Given the description of an element on the screen output the (x, y) to click on. 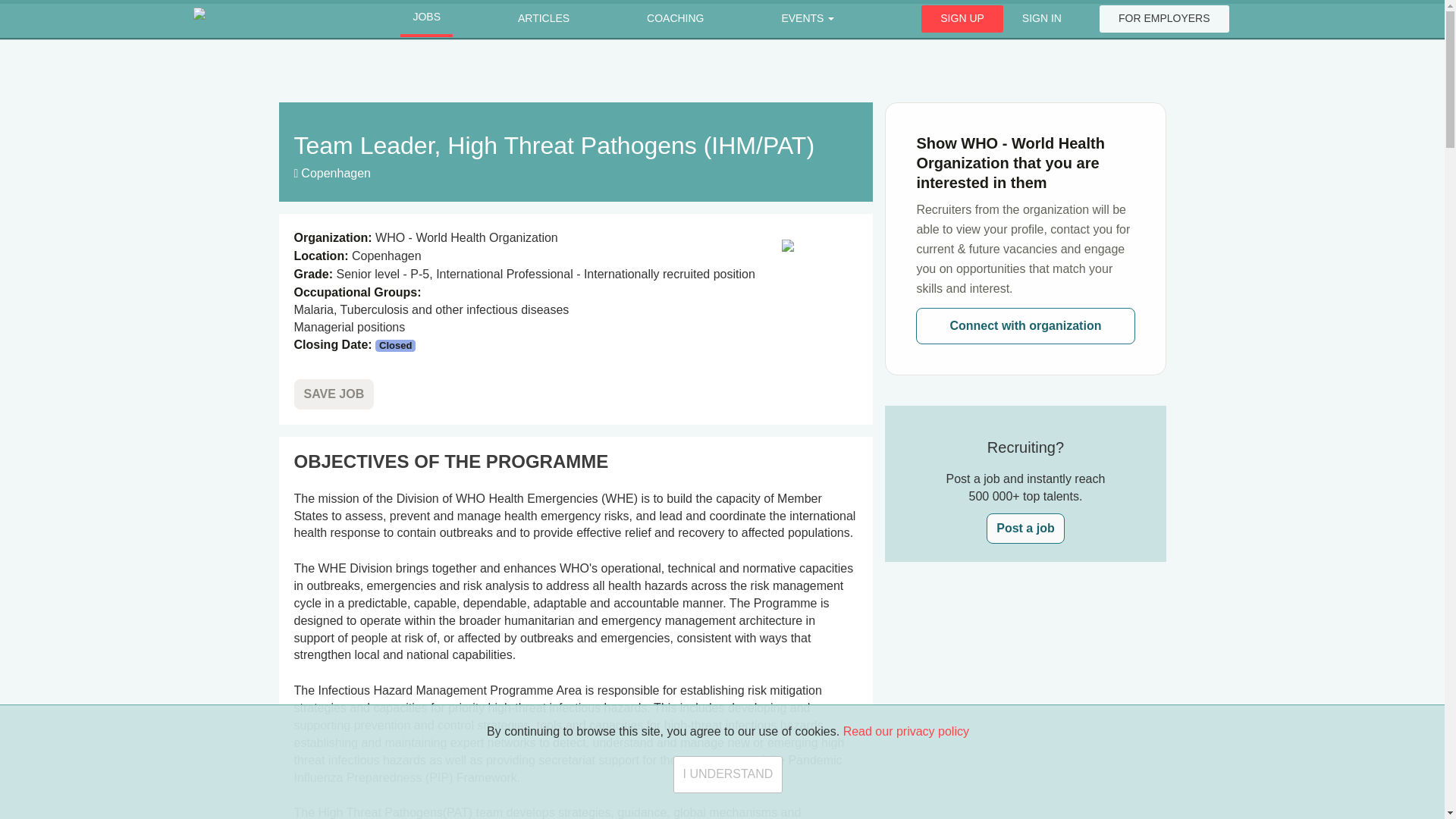
JOBS (426, 18)
EVENTS (806, 19)
SIGN IN (1041, 18)
ARTICLES (542, 19)
SIGN UP (962, 18)
SAVE JOB (334, 394)
FOR EMPLOYERS (1163, 18)
Connect with organization (1024, 325)
Post a job (1025, 528)
COACHING (675, 19)
